Given the description of an element on the screen output the (x, y) to click on. 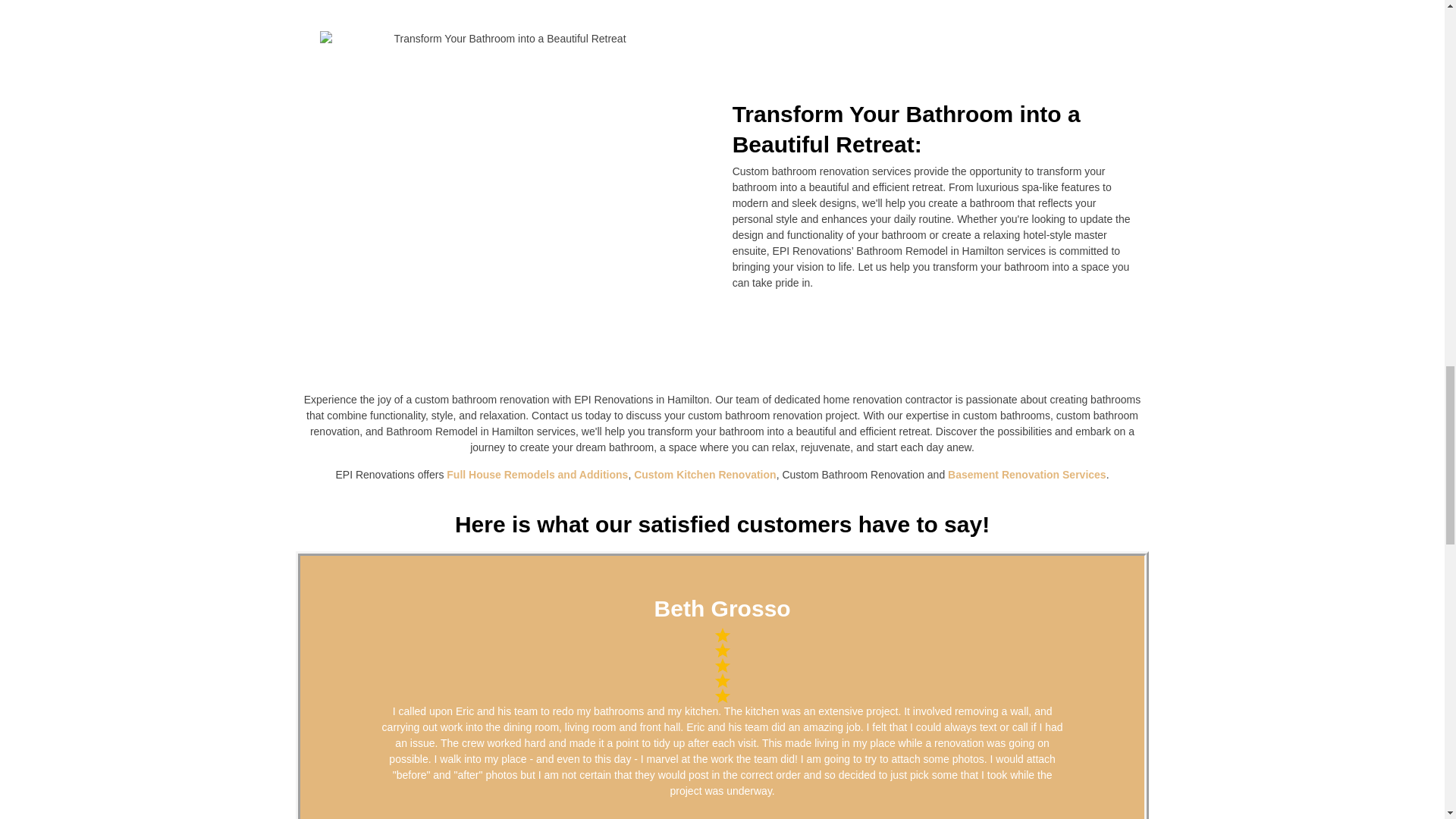
PREVIOUS (342, 713)
NEXT (1124, 713)
Basement Renovation Services (1026, 474)
Full House Remodels and Additions (536, 474)
Custom Kitchen Renovation (704, 474)
